Given the description of an element on the screen output the (x, y) to click on. 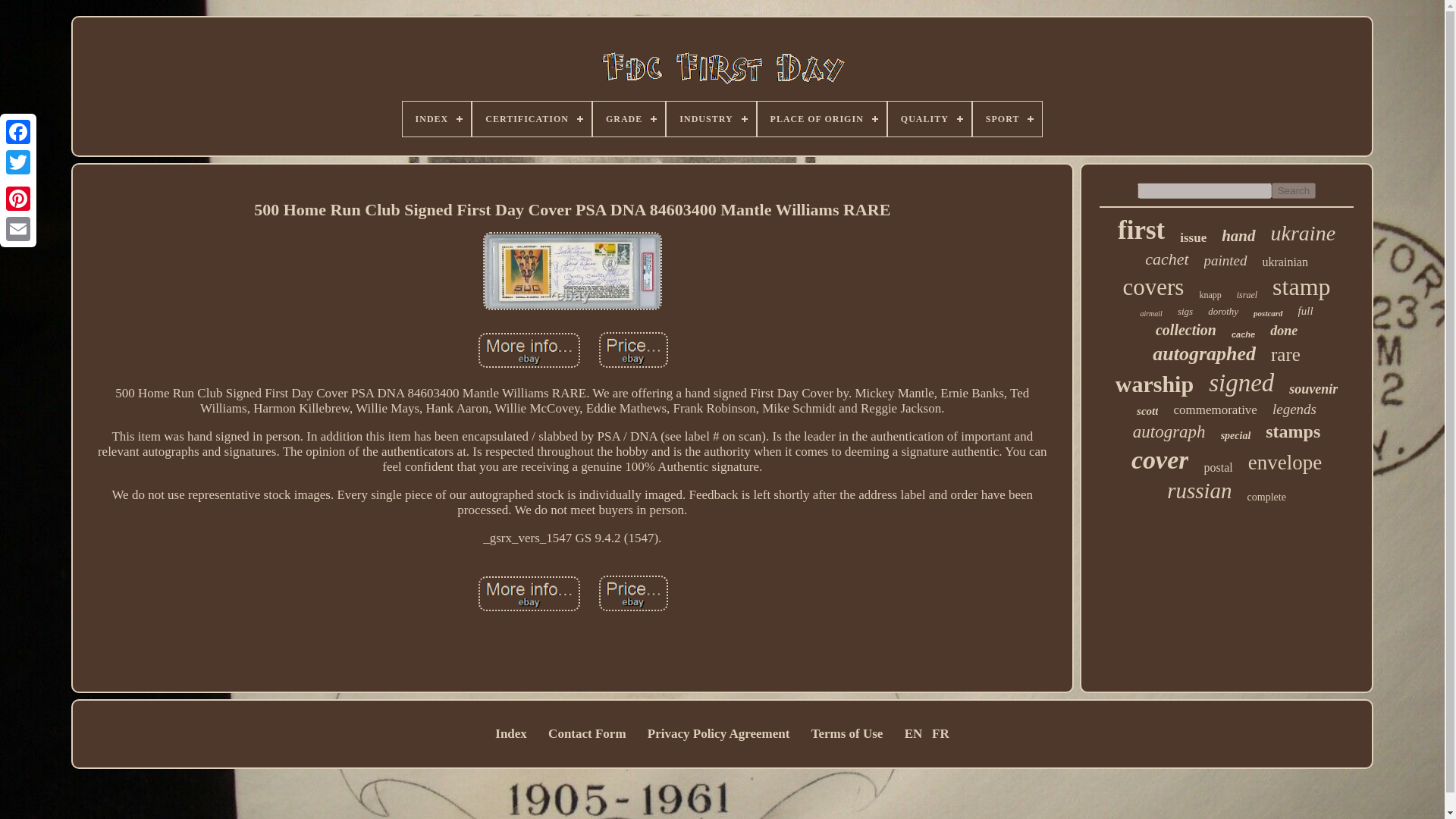
CERTIFICATION (531, 118)
Search (1293, 190)
INDEX (437, 118)
GRADE (628, 118)
